Given the description of an element on the screen output the (x, y) to click on. 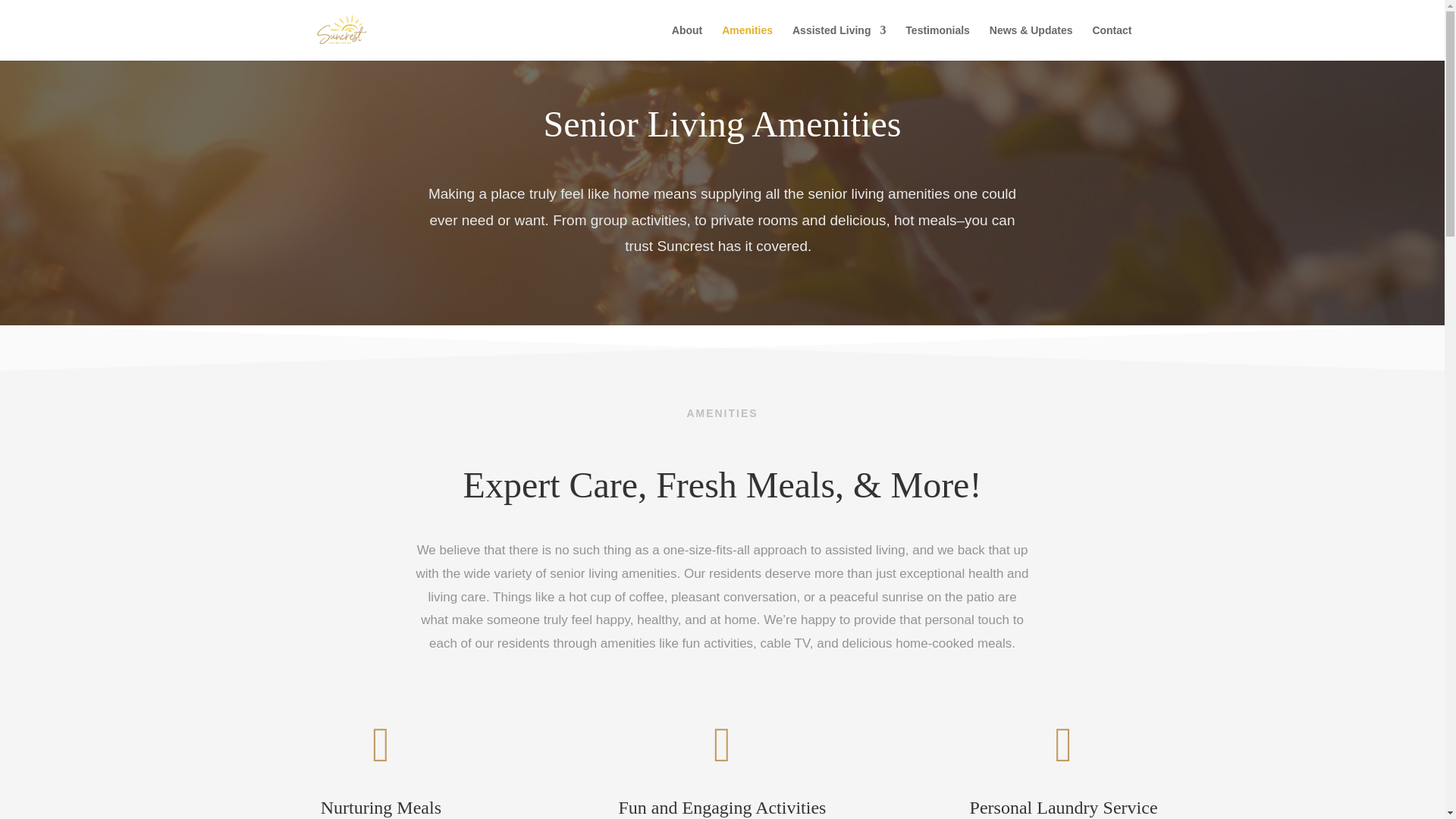
Assisted Living (838, 42)
Amenities (747, 42)
About (686, 42)
Testimonials (937, 42)
Contact (1111, 42)
